Given the description of an element on the screen output the (x, y) to click on. 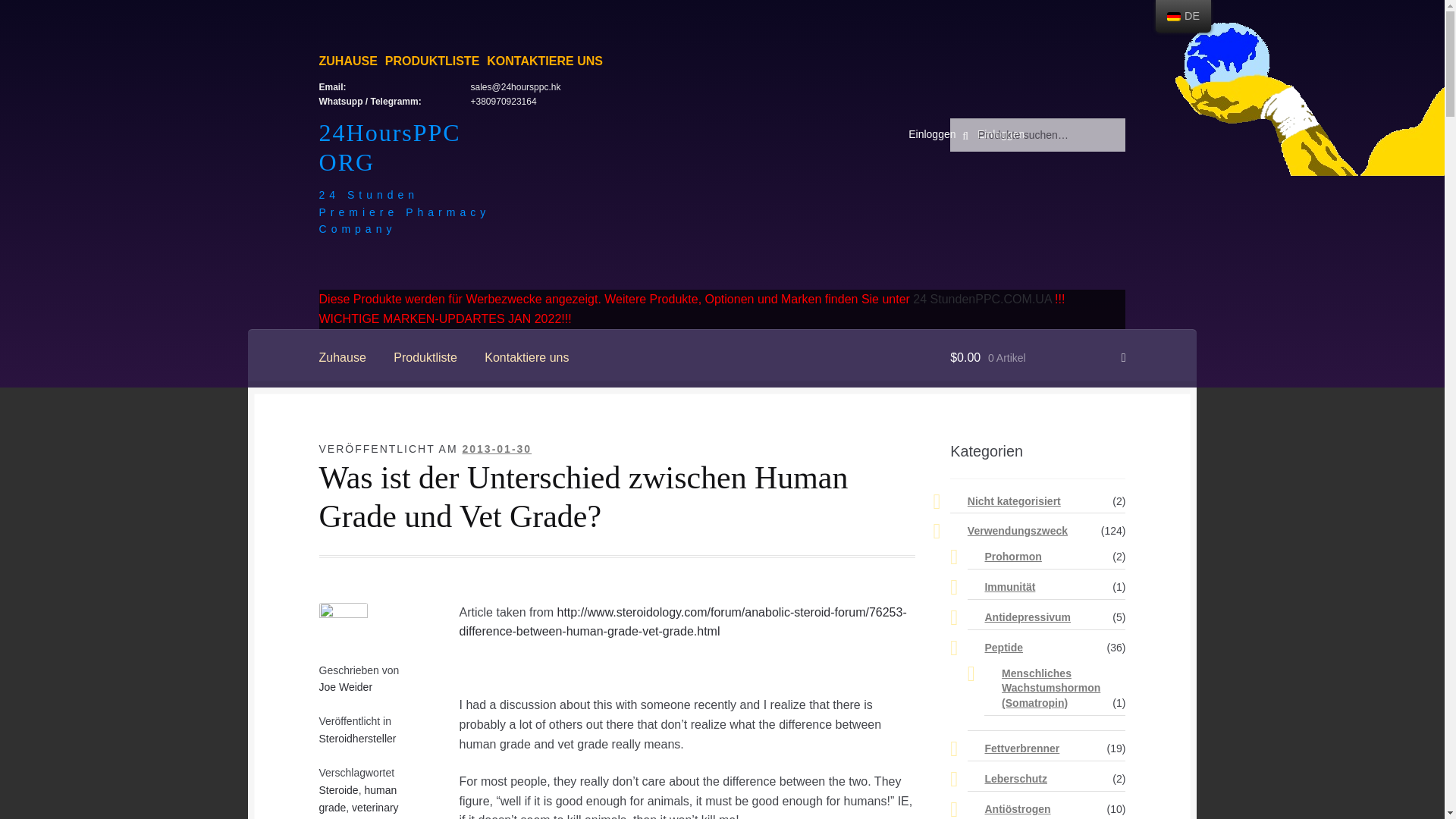
Einloggen (1000, 133)
Springe zum Inhalt (369, 127)
Joe Weider (345, 686)
ZUHAUSE (347, 60)
Antidepressivum (1027, 616)
Suche (980, 132)
KONTAKTIERE UNS (544, 60)
24 StundenPPC.COM.UA (981, 298)
veterinary grade (358, 810)
Fettverbrenner (1021, 748)
human grade (357, 798)
Deinen Warenkorb ansehen (1037, 358)
PRODUKTLISTE (432, 60)
Steroide (338, 789)
Zur Navigation springen (383, 127)
